Given the description of an element on the screen output the (x, y) to click on. 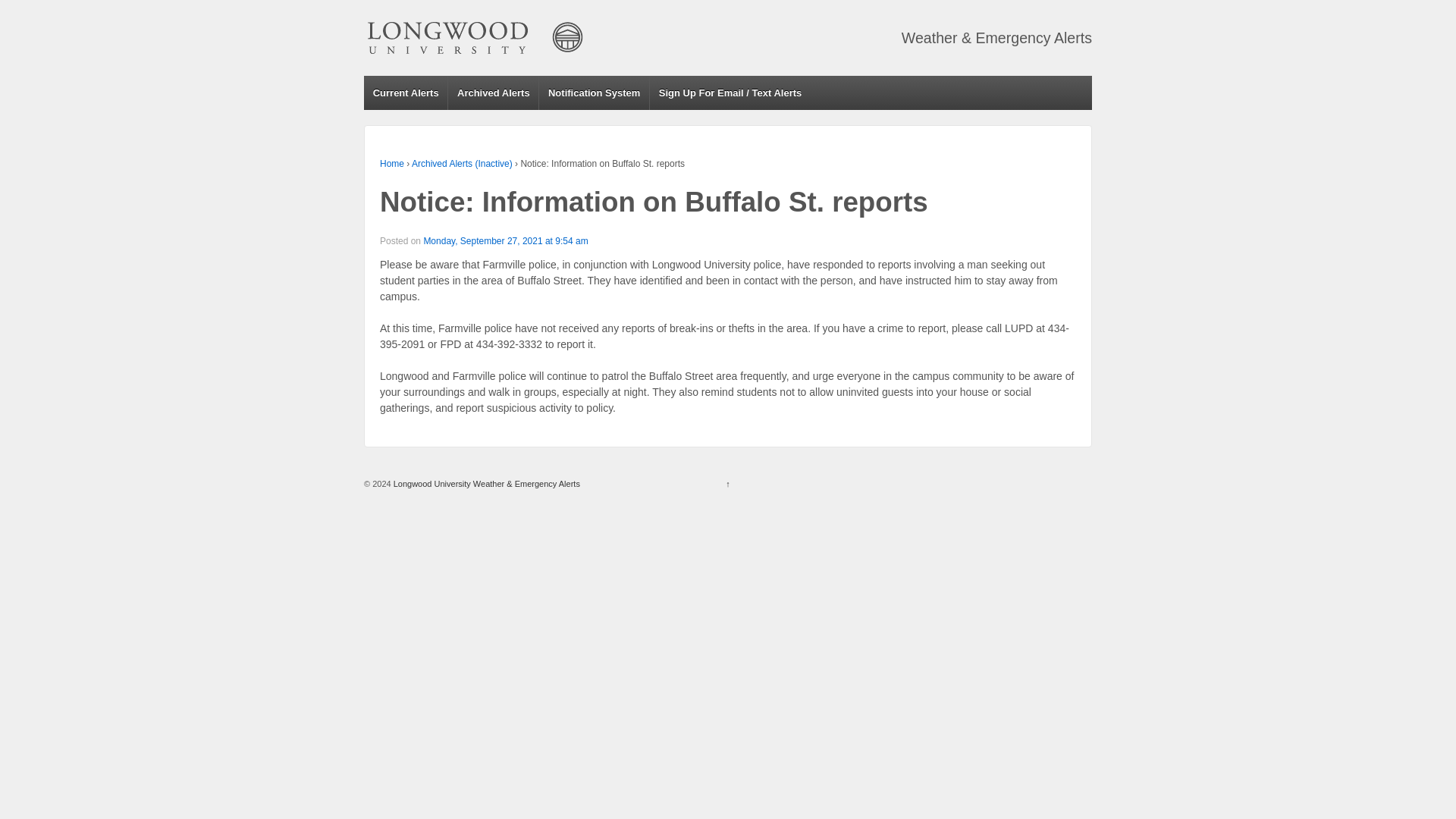
Archived Alerts (492, 92)
Monday, September 27, 2021 at 9:54 am (505, 240)
9:54 am (505, 240)
Home (392, 163)
Current Alerts (405, 92)
Notification System (593, 92)
